Given the description of an element on the screen output the (x, y) to click on. 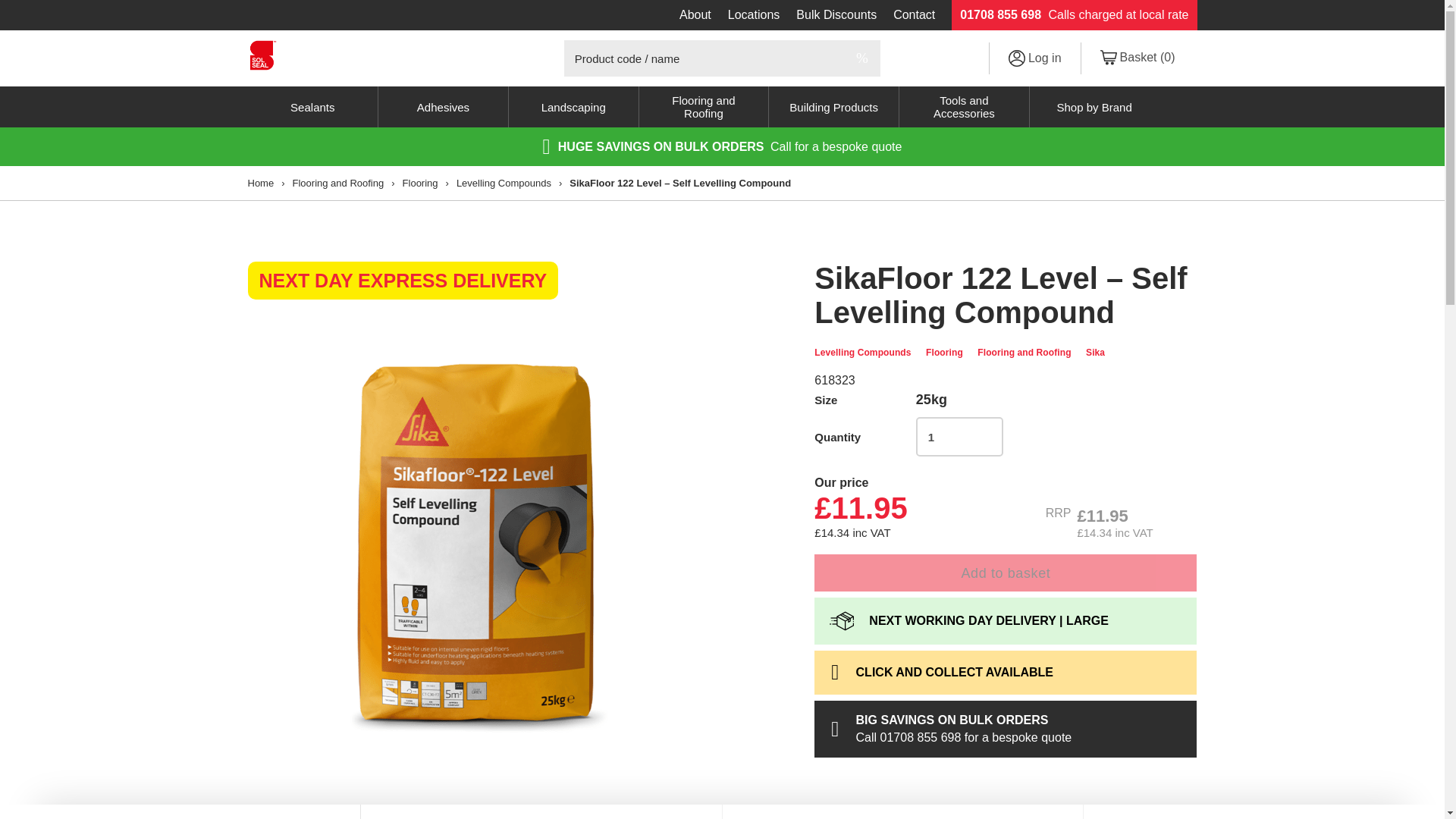
Search (862, 58)
Landscaping (573, 106)
Adhesives (443, 106)
Bulk Discounts (836, 15)
01708 855 698 (1000, 15)
1 (959, 436)
About (695, 15)
Log in (1035, 58)
Locations (754, 15)
Sealants (312, 106)
Contact (914, 15)
